Given the description of an element on the screen output the (x, y) to click on. 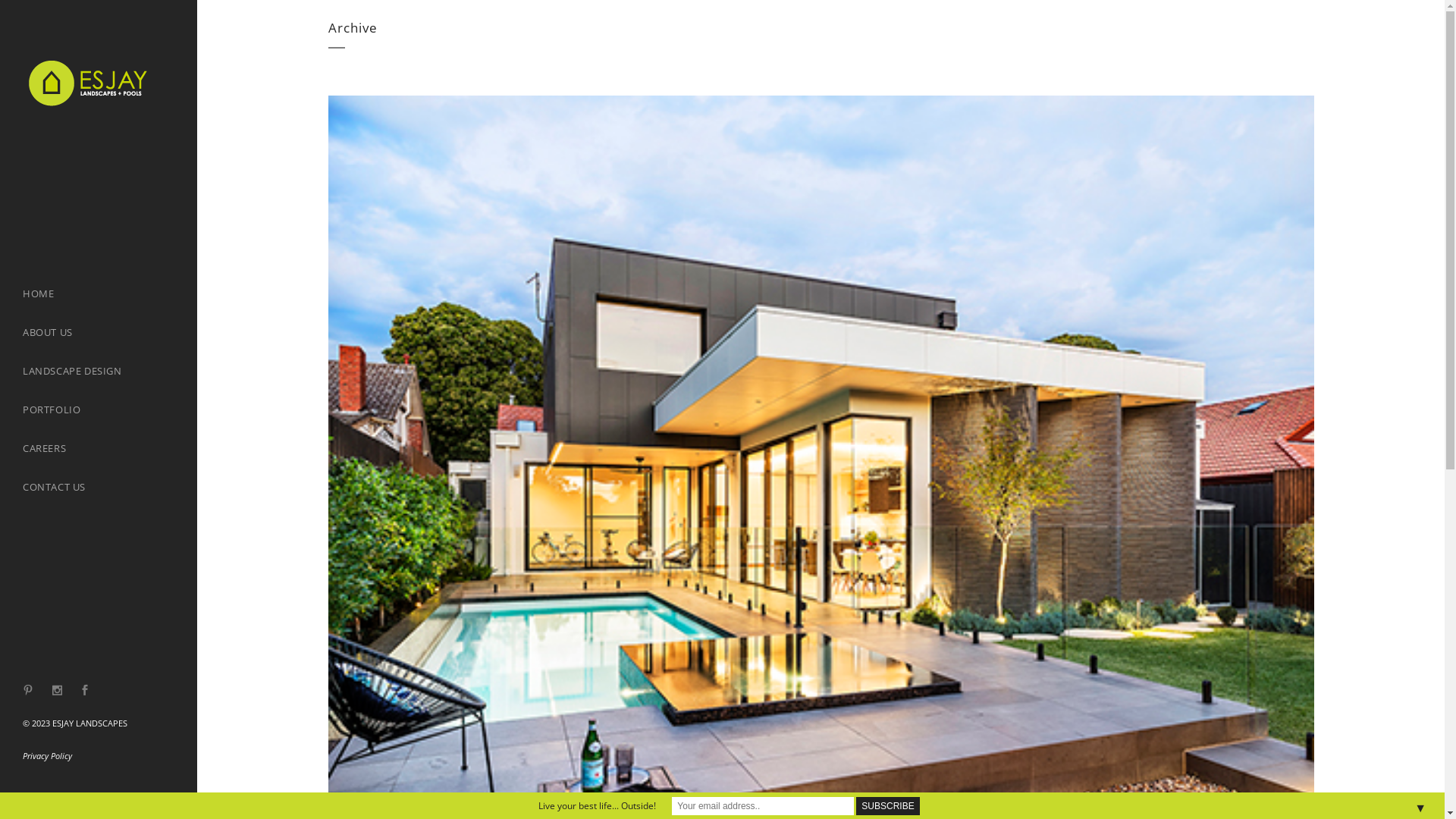
PORTFOLIO Element type: text (98, 409)
CAREERS Element type: text (98, 448)
CONTACT US Element type: text (98, 486)
HOME Element type: text (98, 293)
ABOUT US Element type: text (98, 332)
SUBSCRIBE Element type: text (887, 805)
Privacy Policy Element type: text (47, 755)
LANDSCAPE DESIGN Element type: text (98, 370)
